Given the description of an element on the screen output the (x, y) to click on. 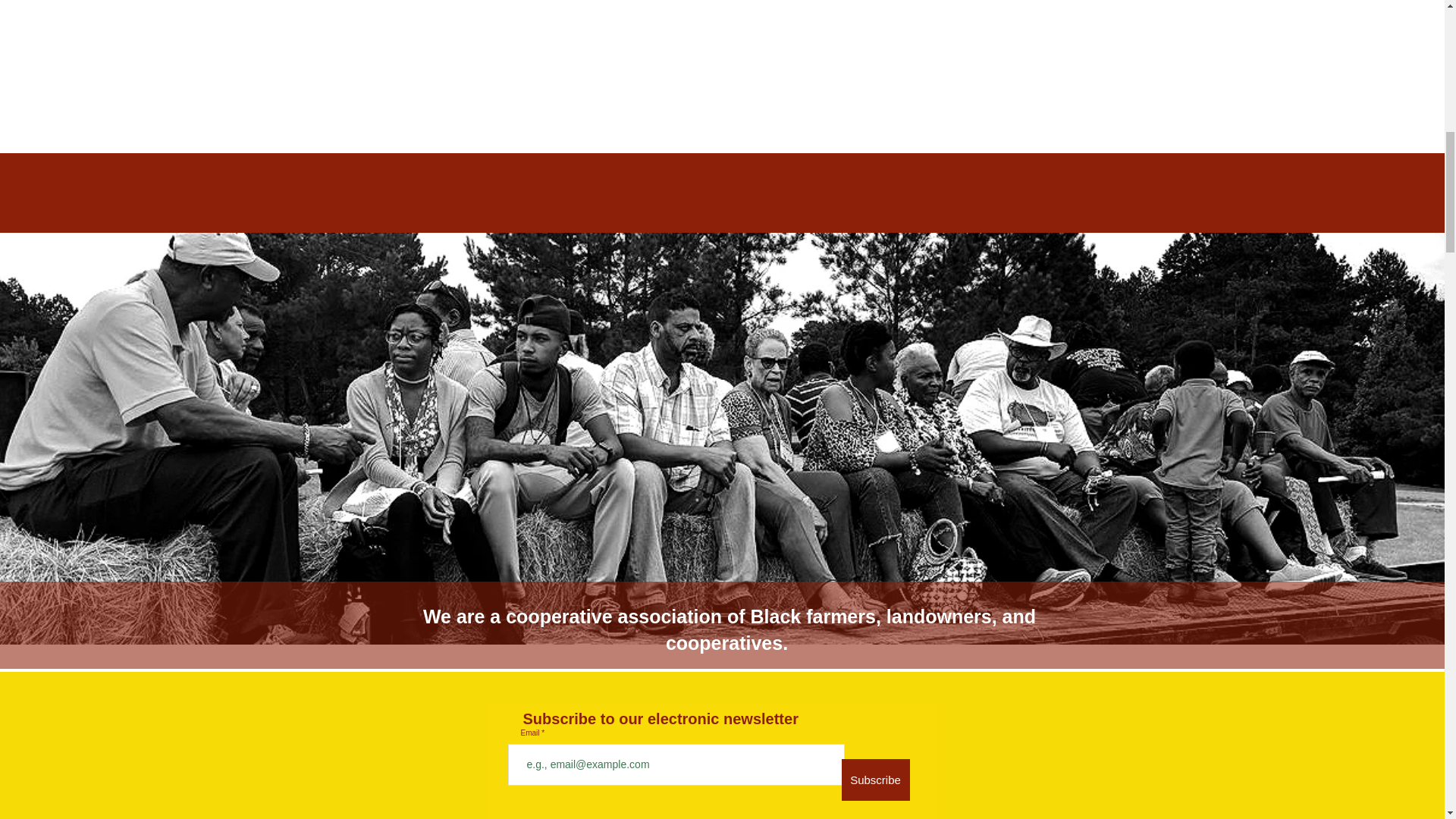
Subscribe (875, 779)
